Given the description of an element on the screen output the (x, y) to click on. 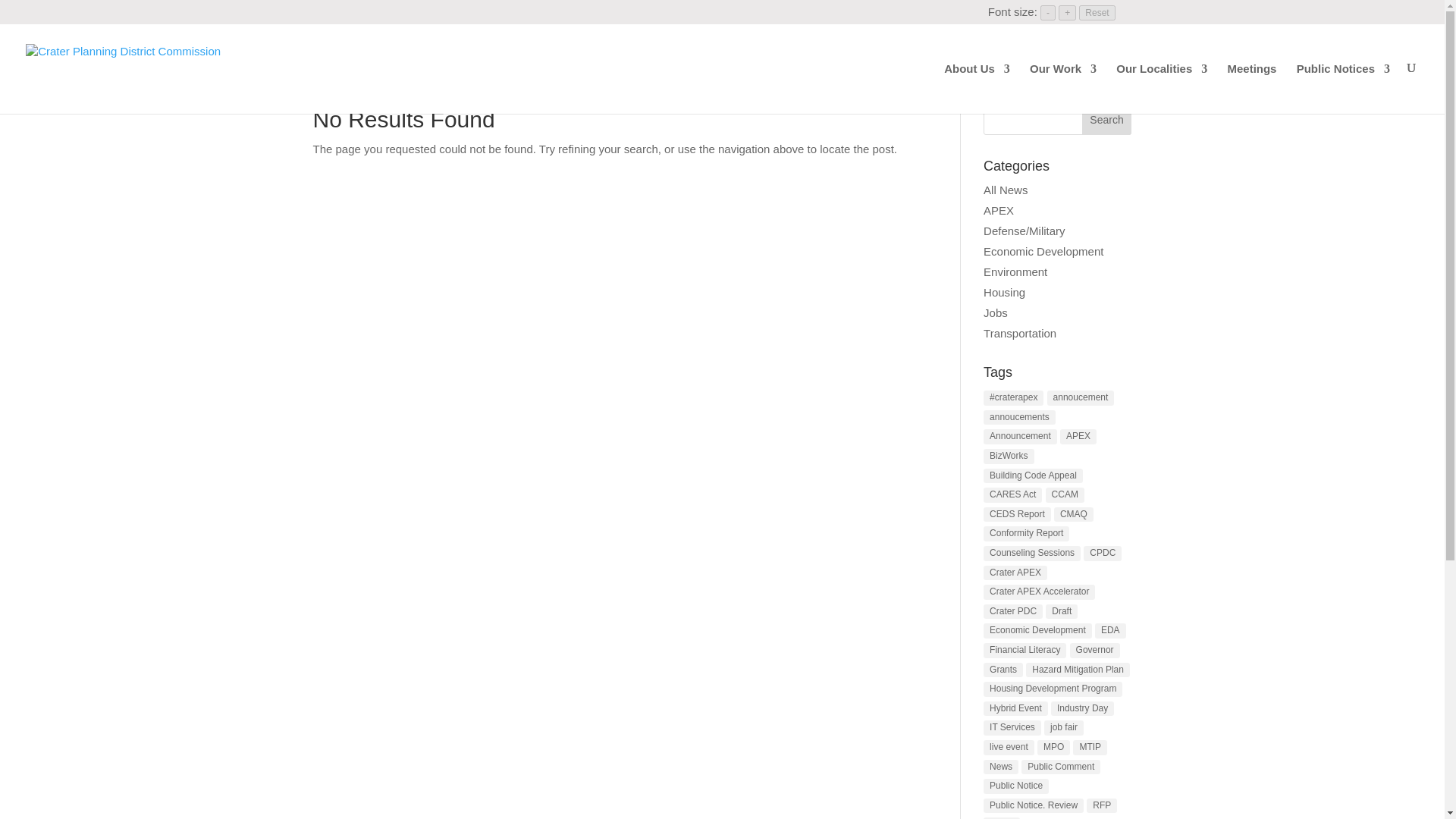
Search (1106, 119)
Reset (1096, 11)
APEX (998, 210)
Our Work (1062, 87)
Our Localities (1161, 87)
- (1048, 11)
Public Notices (1343, 87)
Search (1106, 119)
All News (1005, 189)
Meetings (1251, 87)
